Given the description of an element on the screen output the (x, y) to click on. 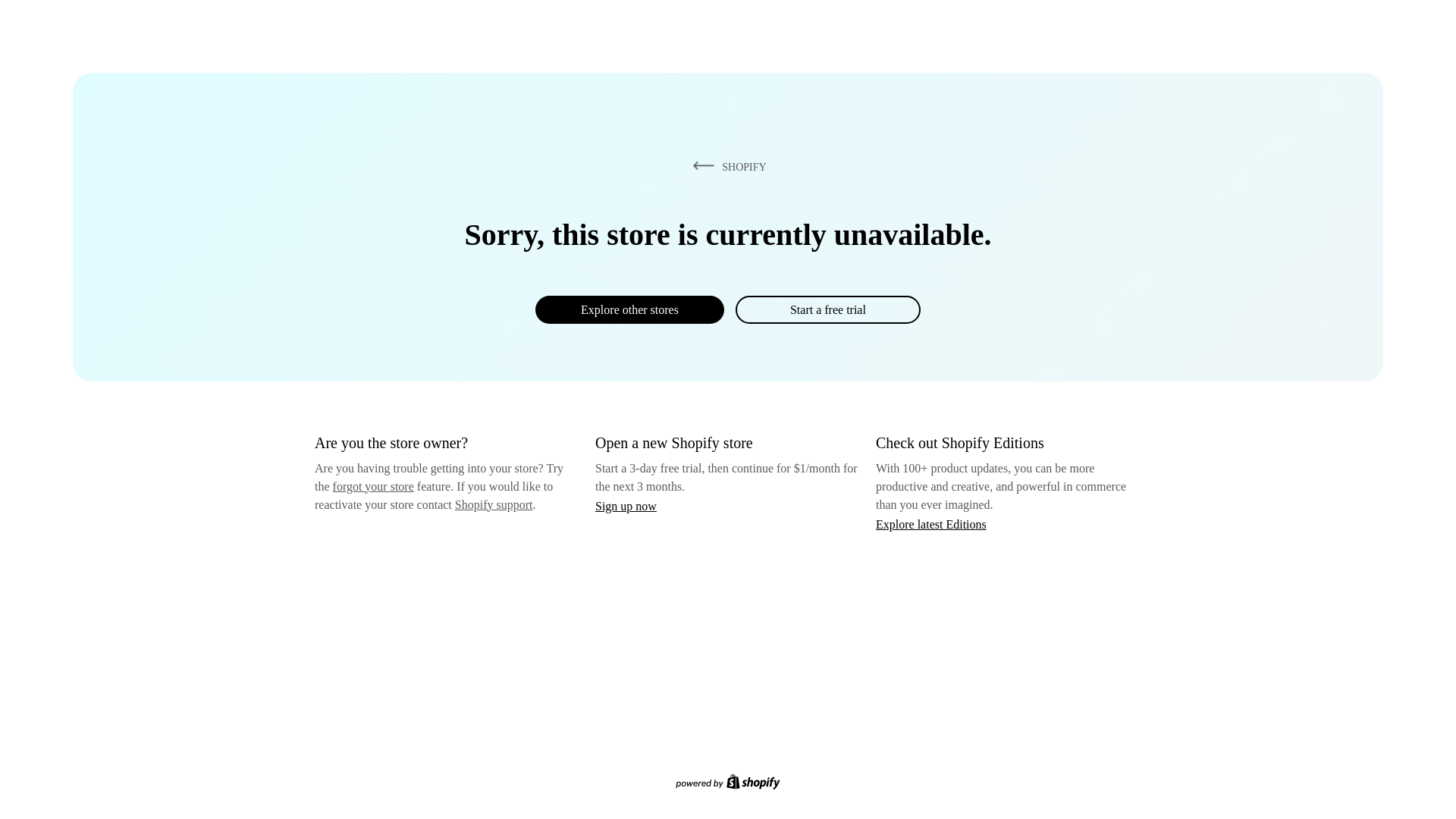
Explore latest Editions (931, 523)
forgot your store (373, 486)
Shopify support (493, 504)
Start a free trial (827, 309)
Explore other stores (629, 309)
SHOPIFY (726, 166)
Sign up now (625, 505)
